Given the description of an element on the screen output the (x, y) to click on. 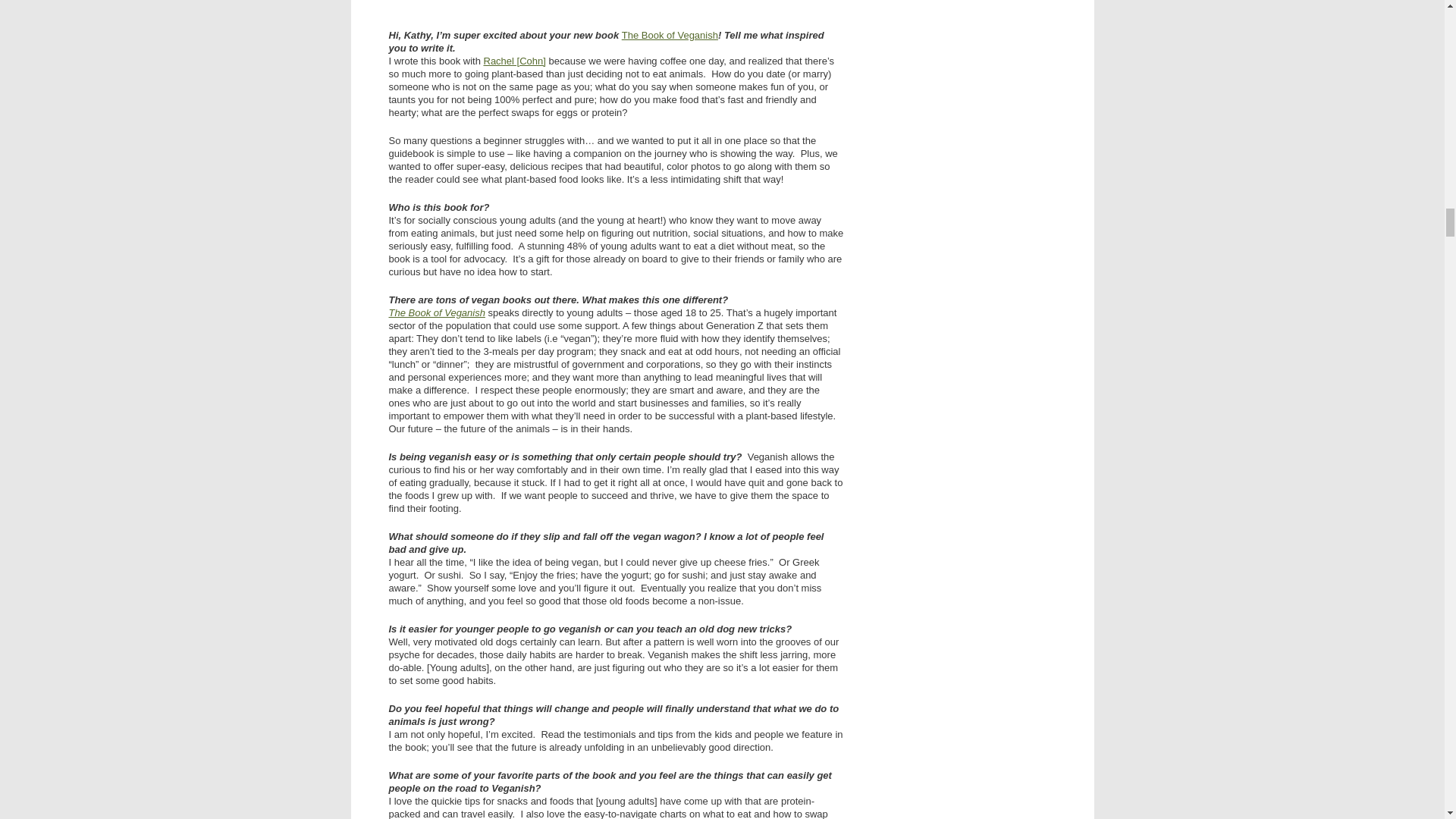
The Book of Veganish (669, 34)
